Given the description of an element on the screen output the (x, y) to click on. 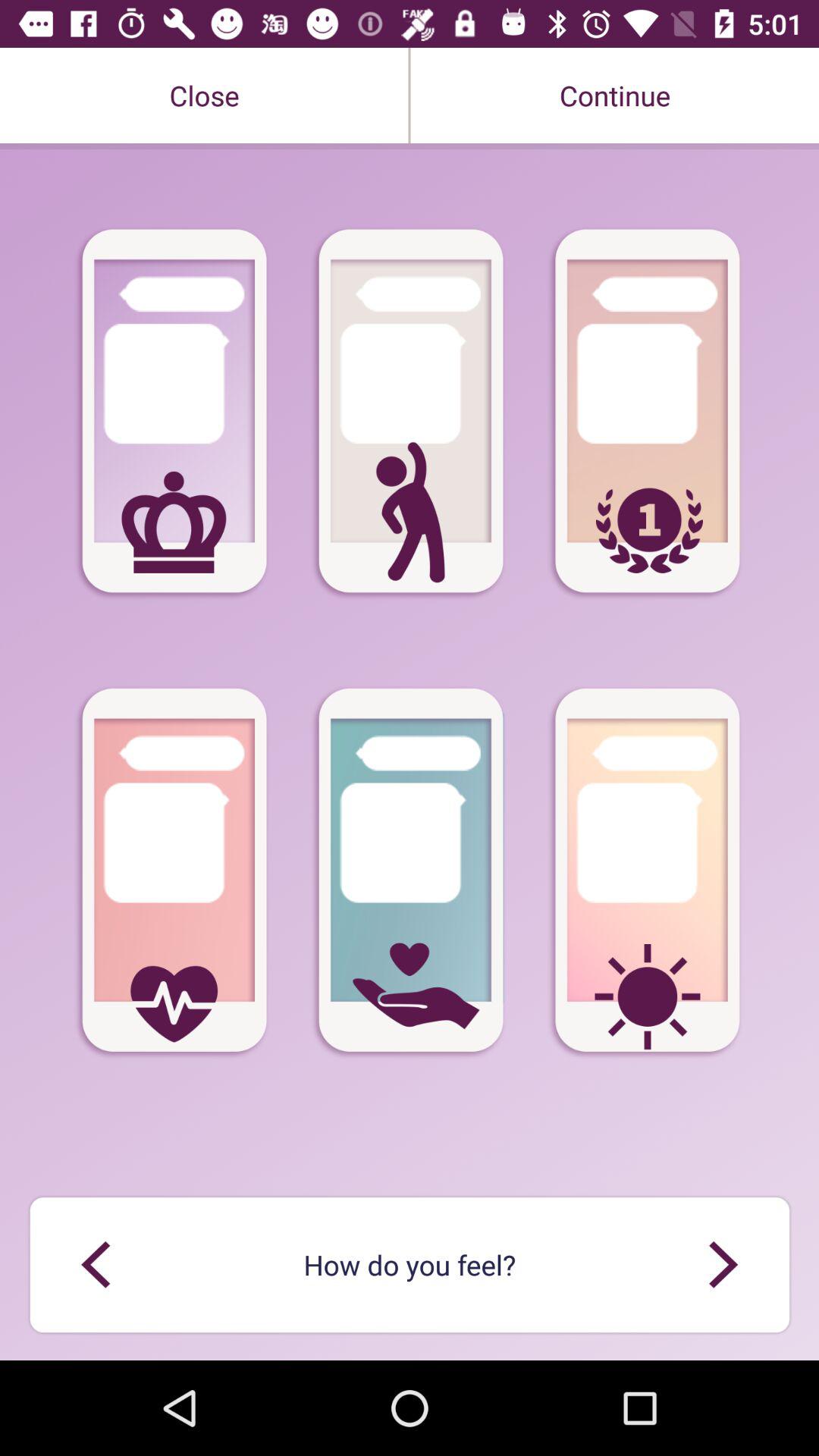
previous option (723, 1264)
